Given the description of an element on the screen output the (x, y) to click on. 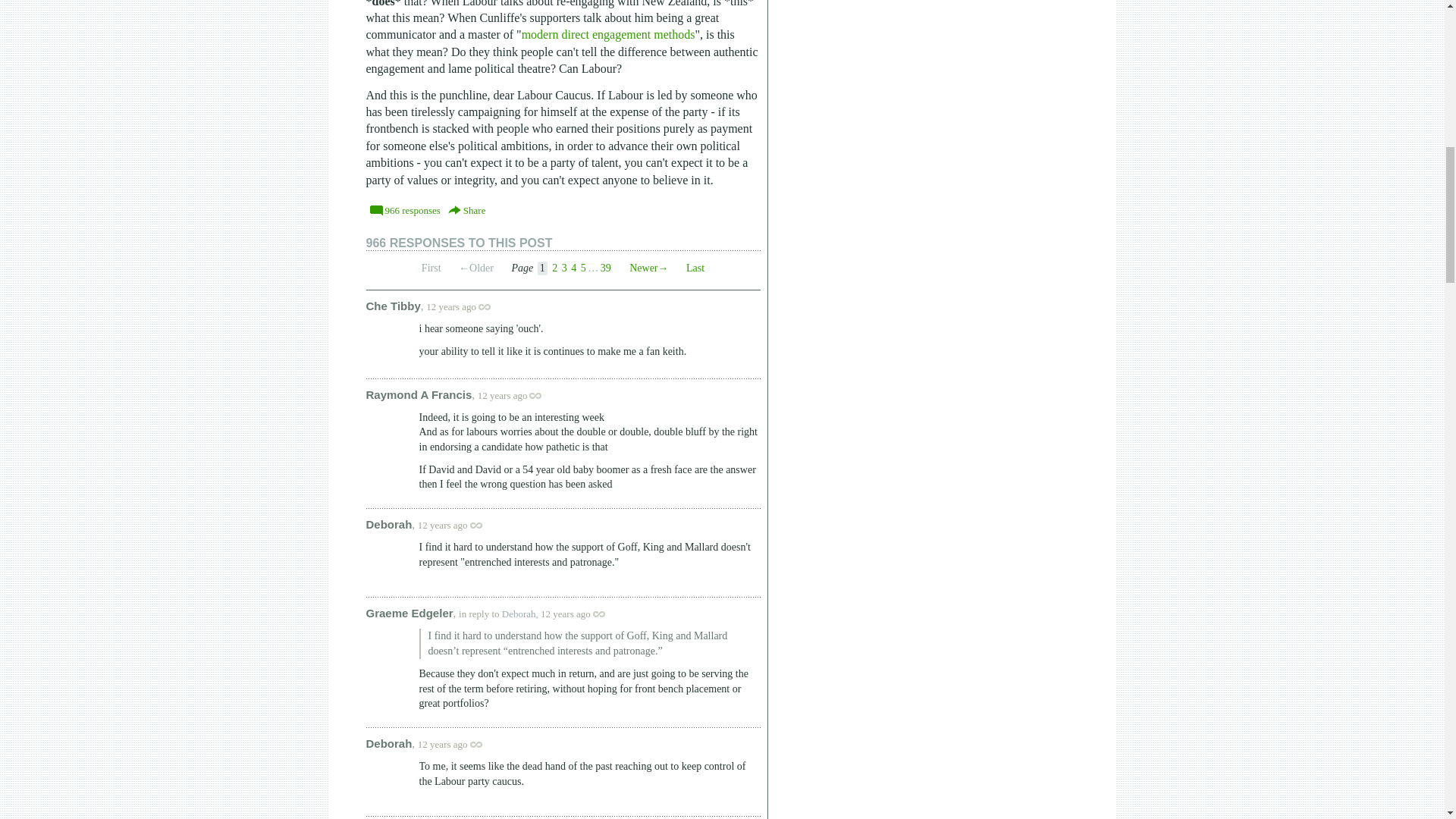
12 years ago (465, 306)
Deborah, (520, 613)
12 years ago (517, 395)
modern direct engagement methods (608, 33)
Che Tibby (392, 305)
07:52 Dec 12, 2011 (502, 395)
Share (467, 210)
12 years ago (580, 613)
08:15 Dec 12, 2011 (442, 744)
Raymond A Francis (418, 394)
